Given the description of an element on the screen output the (x, y) to click on. 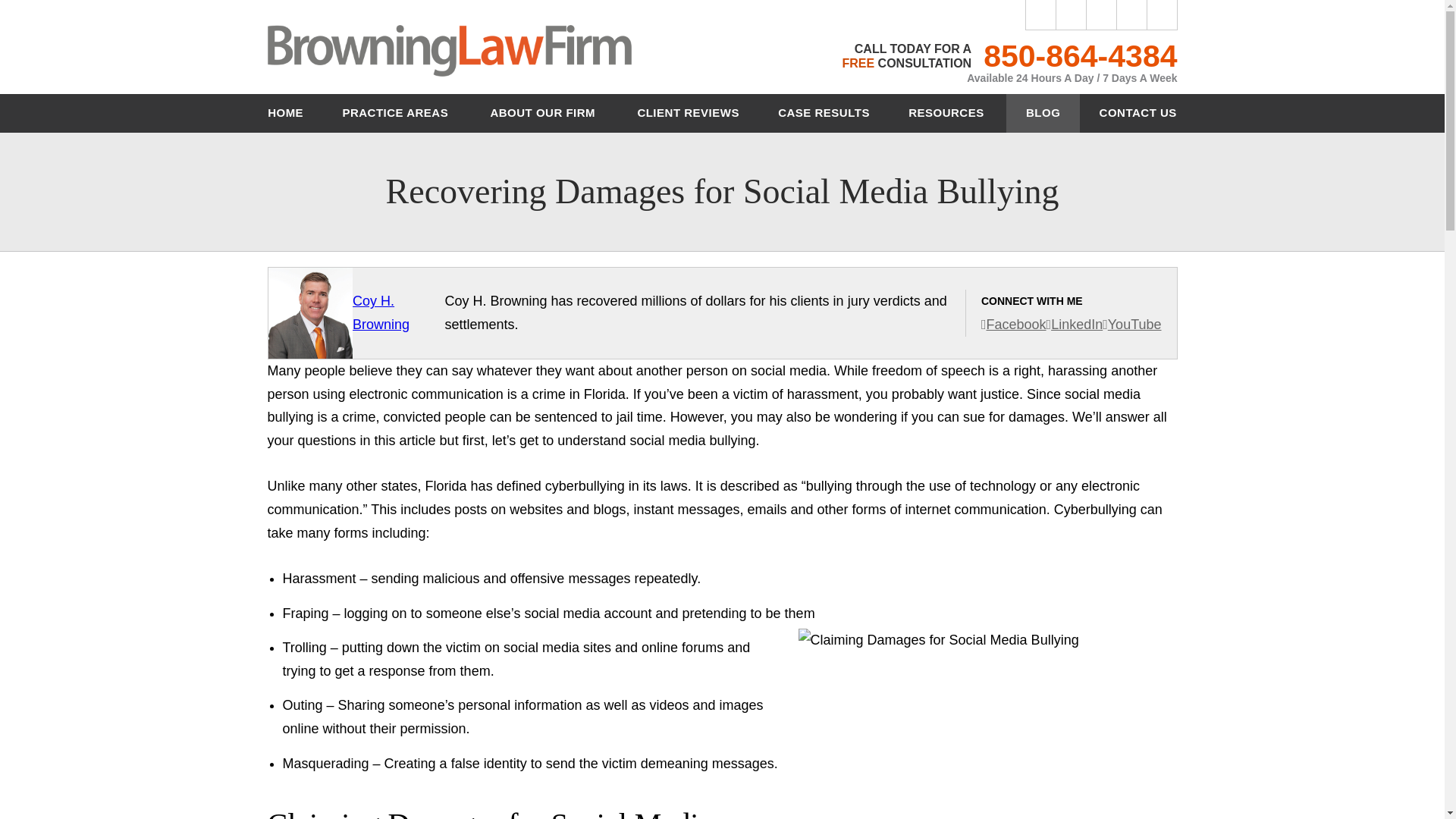
Find me on Facebook (1013, 324)
CLIENT REVIEWS (687, 113)
Watch me on YouTube (1131, 324)
Connect with me on LinkedIn (1074, 324)
RESOURCES (948, 113)
CASE RESULTS (823, 113)
HOME (285, 113)
850-864-4384 (1080, 56)
PRACTICE AREAS (396, 113)
Search (1161, 15)
ABOUT OUR FIRM (543, 113)
